Given the description of an element on the screen output the (x, y) to click on. 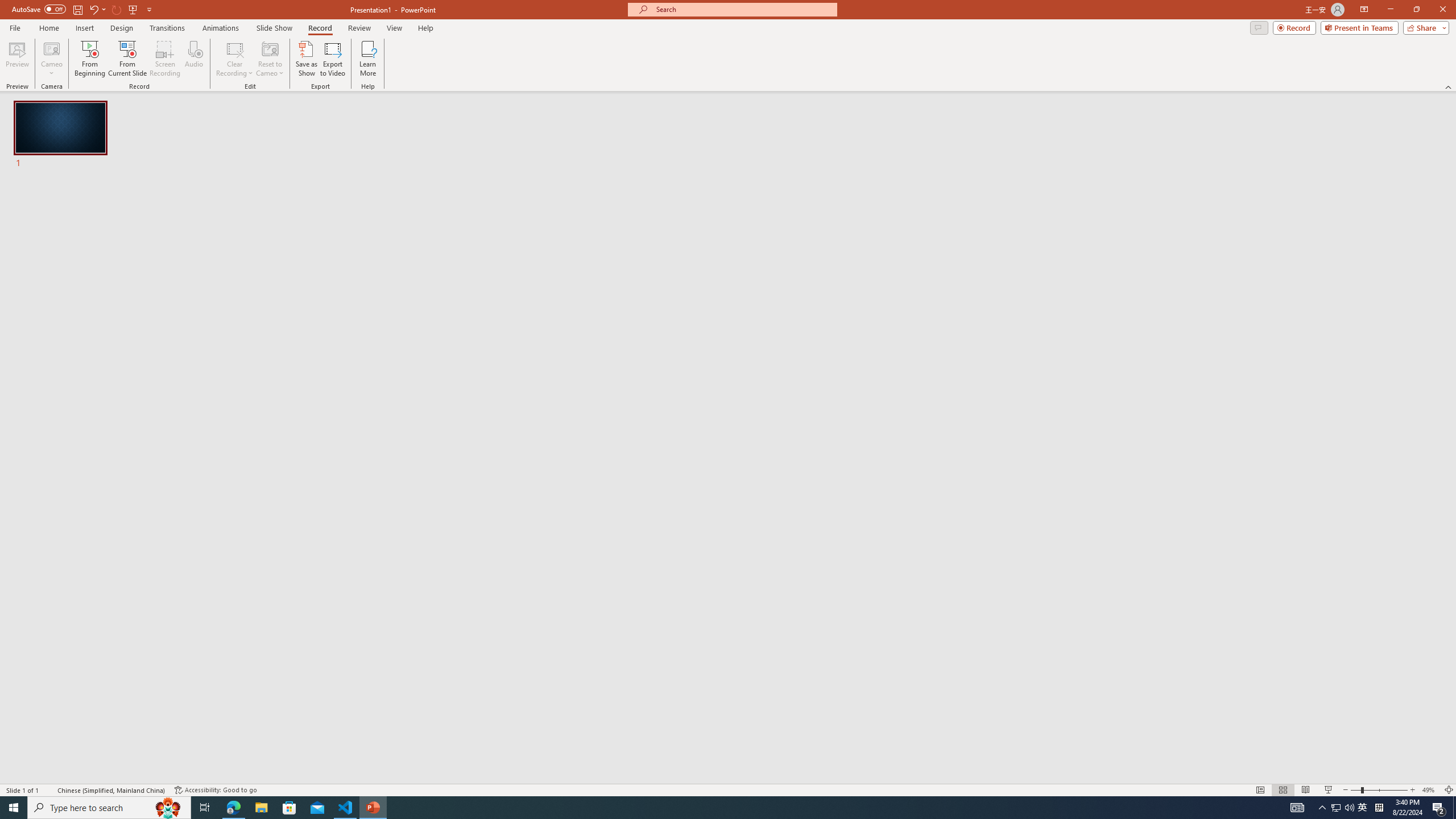
Spell Check  (49, 790)
